Given the description of an element on the screen output the (x, y) to click on. 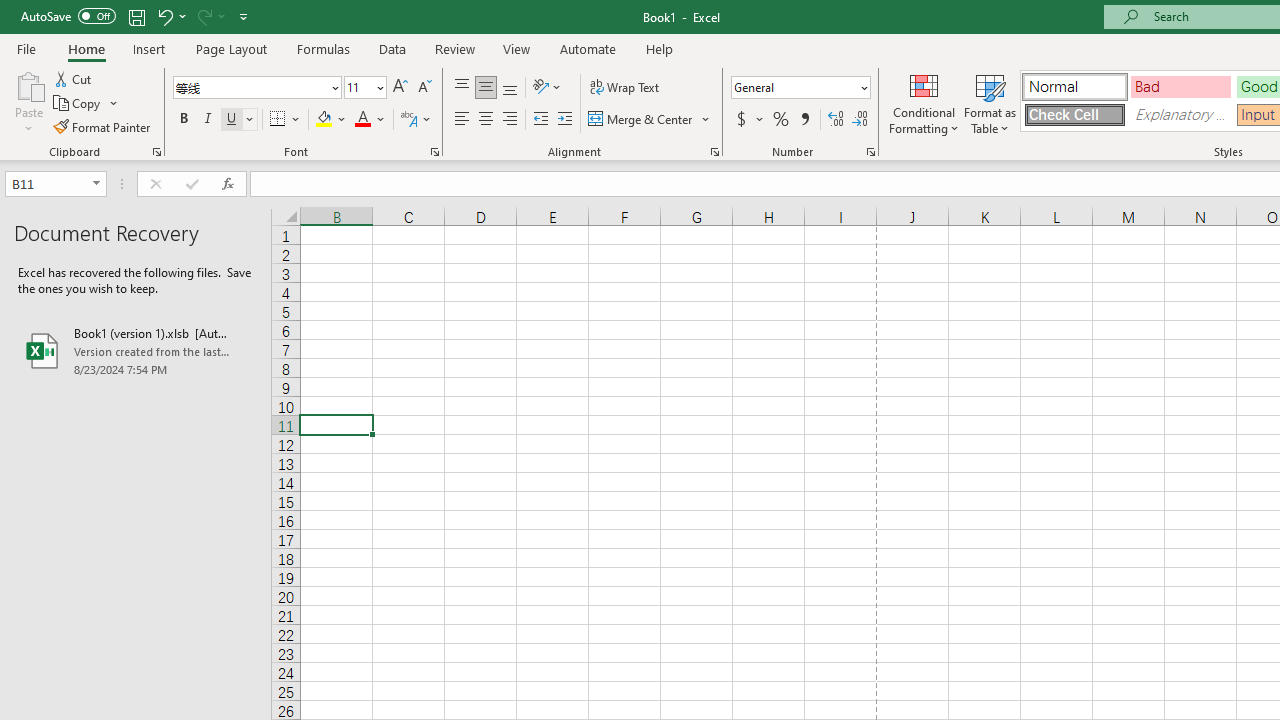
Check Cell (1074, 114)
Font (250, 87)
Conditional Formatting (924, 102)
Font Size (358, 87)
